Given the description of an element on the screen output the (x, y) to click on. 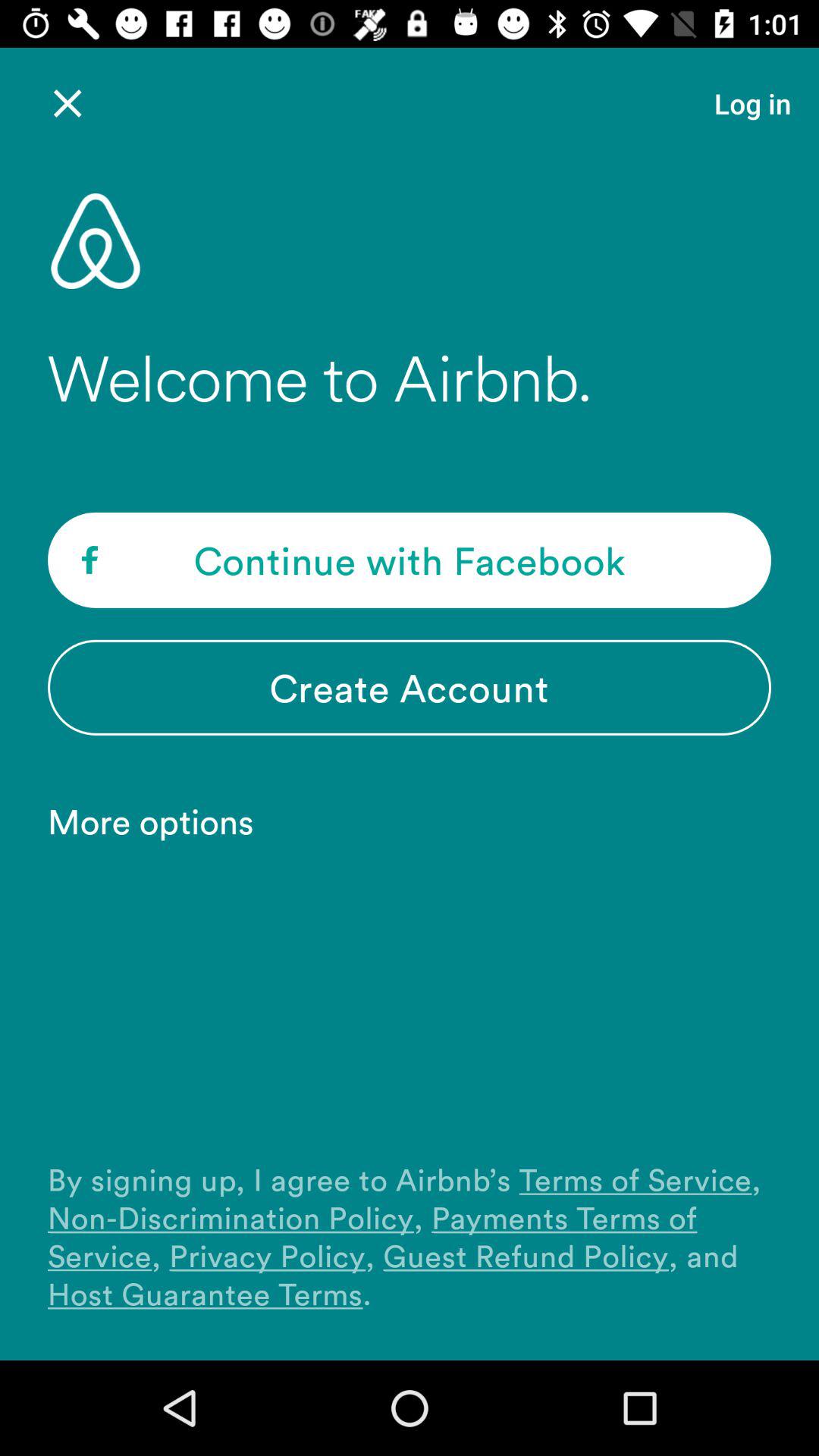
swipe to the create account item (409, 687)
